Given the description of an element on the screen output the (x, y) to click on. 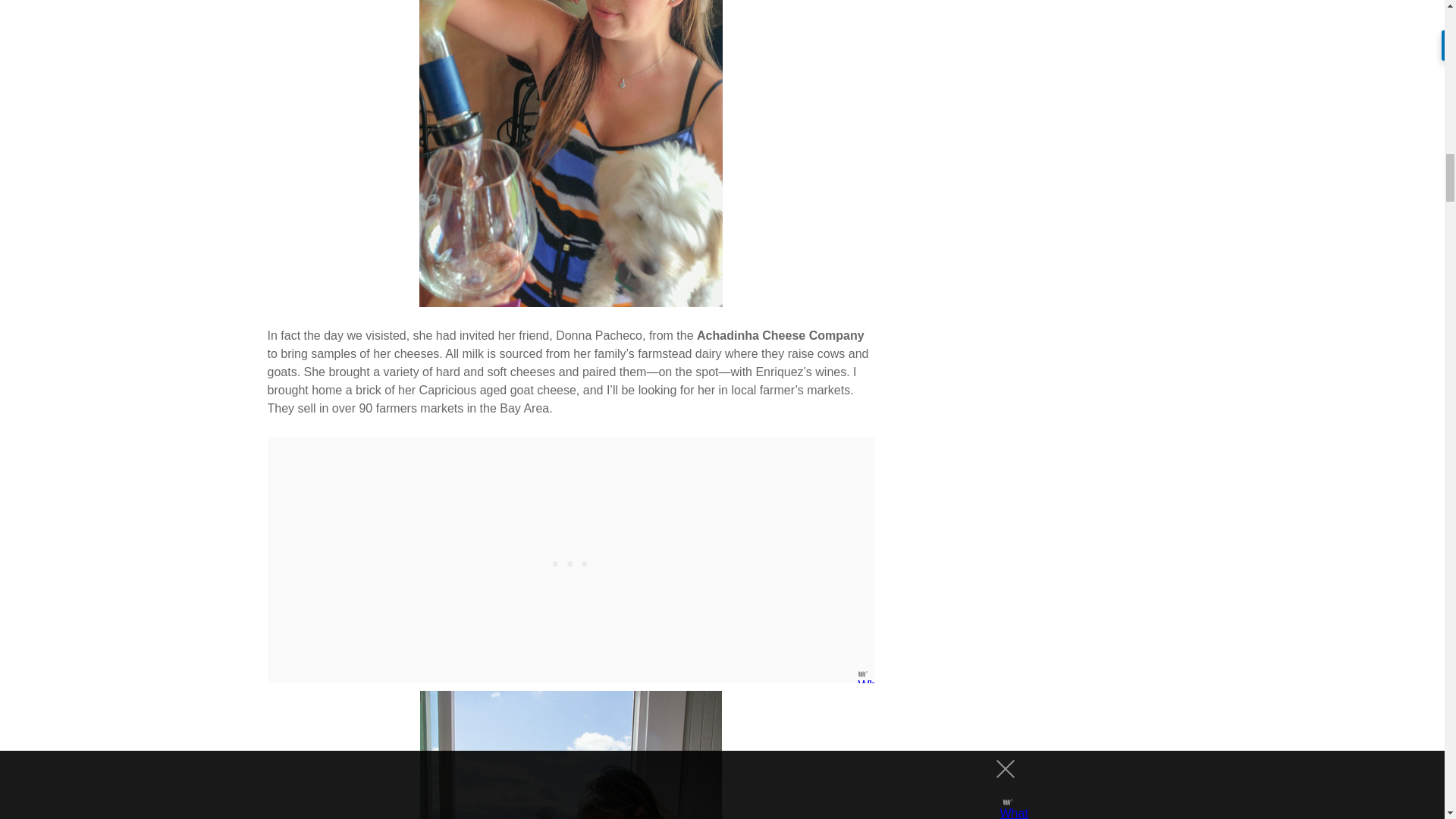
Cecelia Enriquez from Enriquez Estate Wines, Petaluma, CA (570, 153)
3rd party ad content (569, 560)
Achadinha Cheese Company, Petaluma, CA (571, 755)
